Given the description of an element on the screen output the (x, y) to click on. 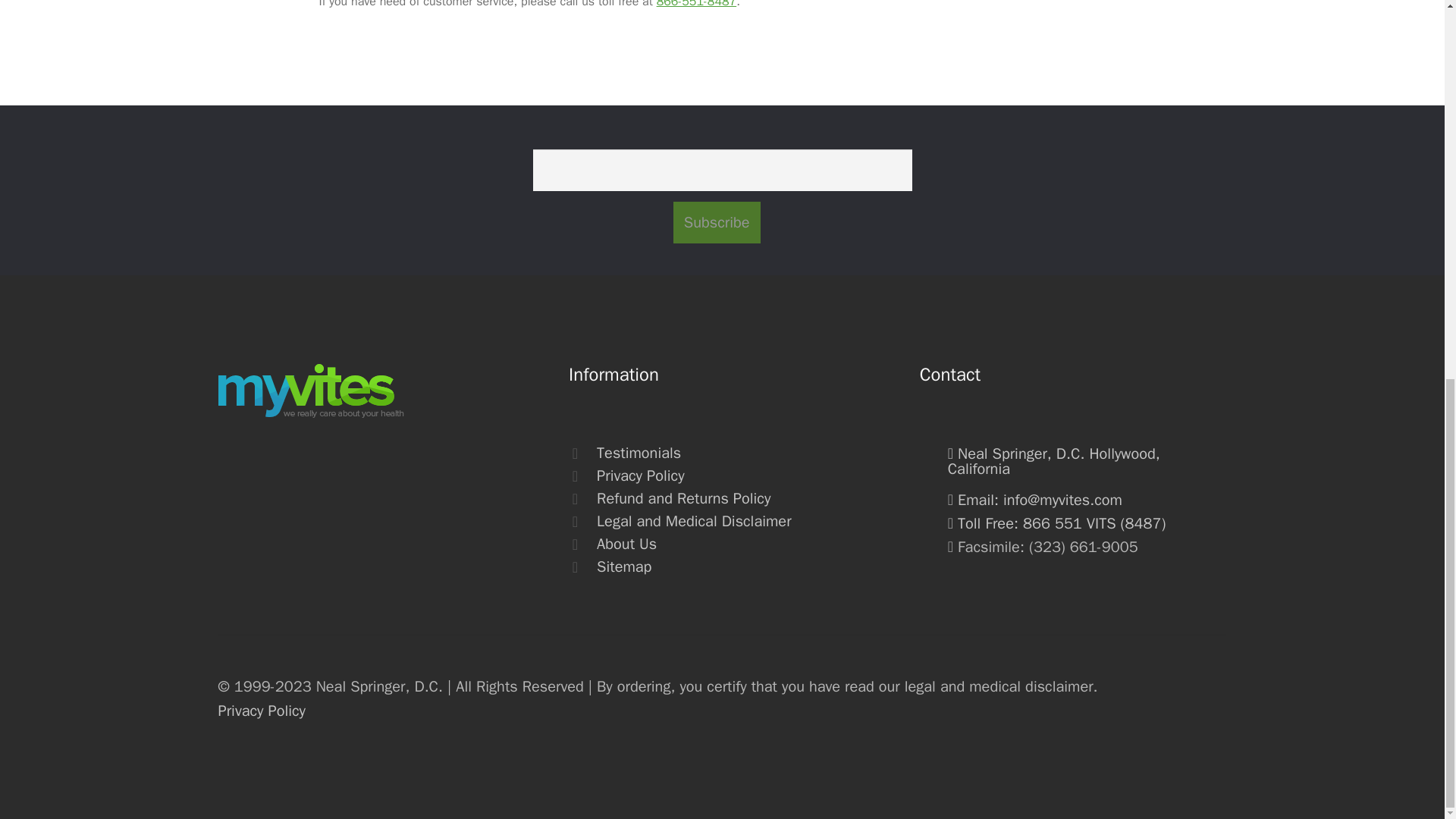
Subscribe (716, 222)
